Given the description of an element on the screen output the (x, y) to click on. 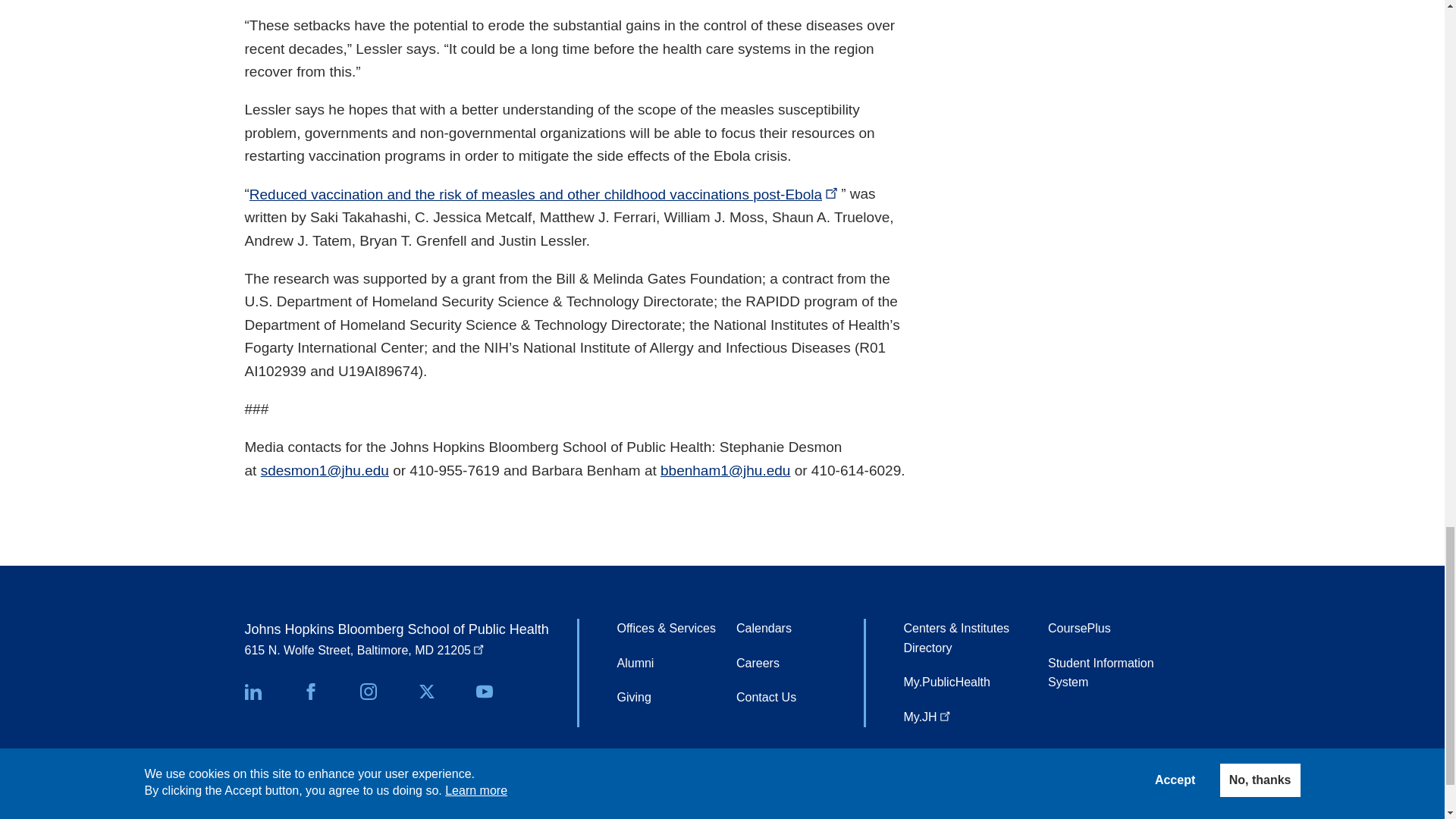
Barbara Benham (725, 470)
Job Opportunities and Career Resources (757, 663)
Stephanie Desmon (324, 470)
